Given the description of an element on the screen output the (x, y) to click on. 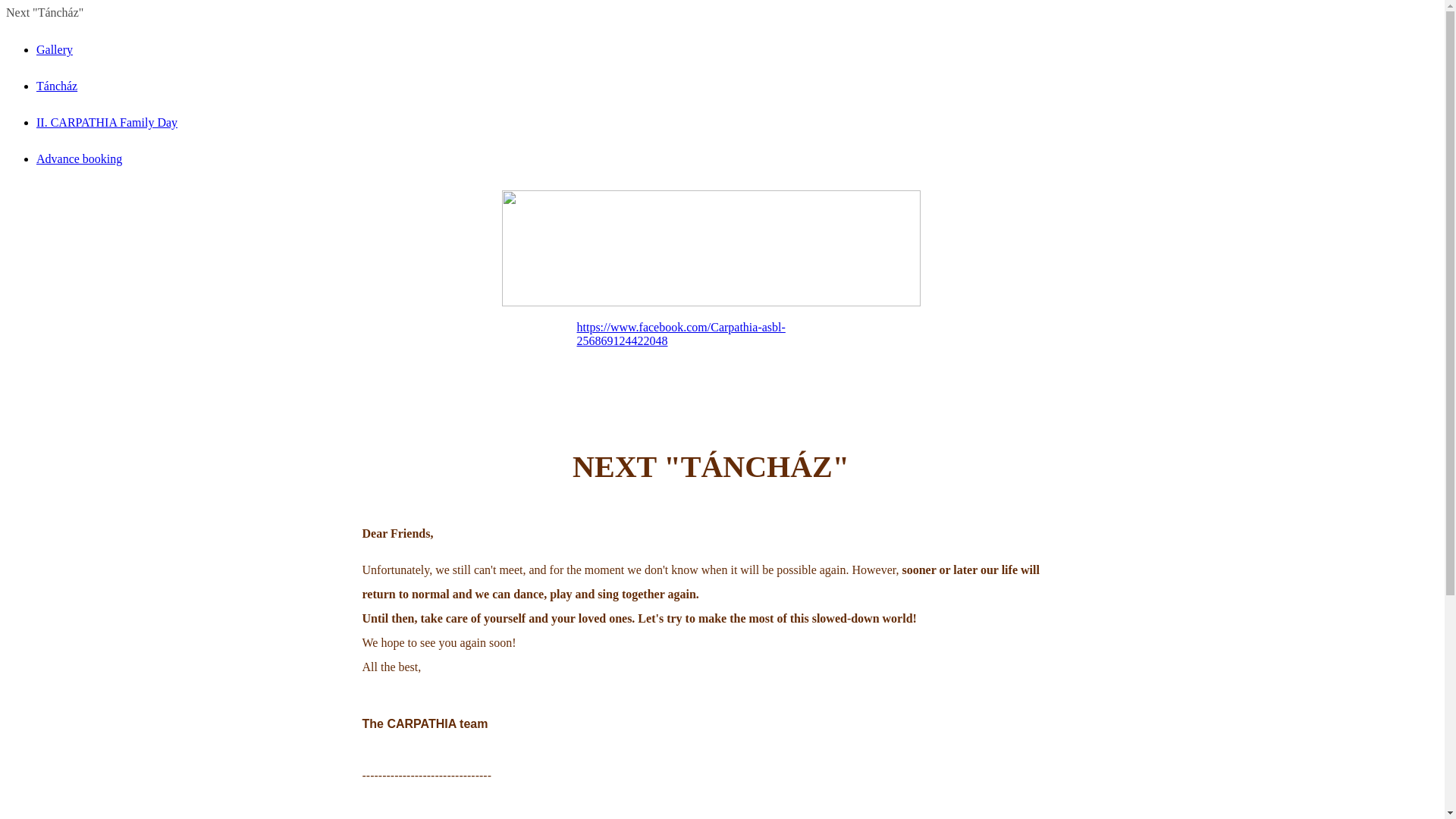
https://www.facebook.com/Carpathia-asbl-256869124422048 Element type: text (680, 333)
Gallery Element type: text (54, 49)
Advance booking Element type: text (79, 158)
II. CARPATHIA Family Day Element type: text (106, 122)
